Given the description of an element on the screen output the (x, y) to click on. 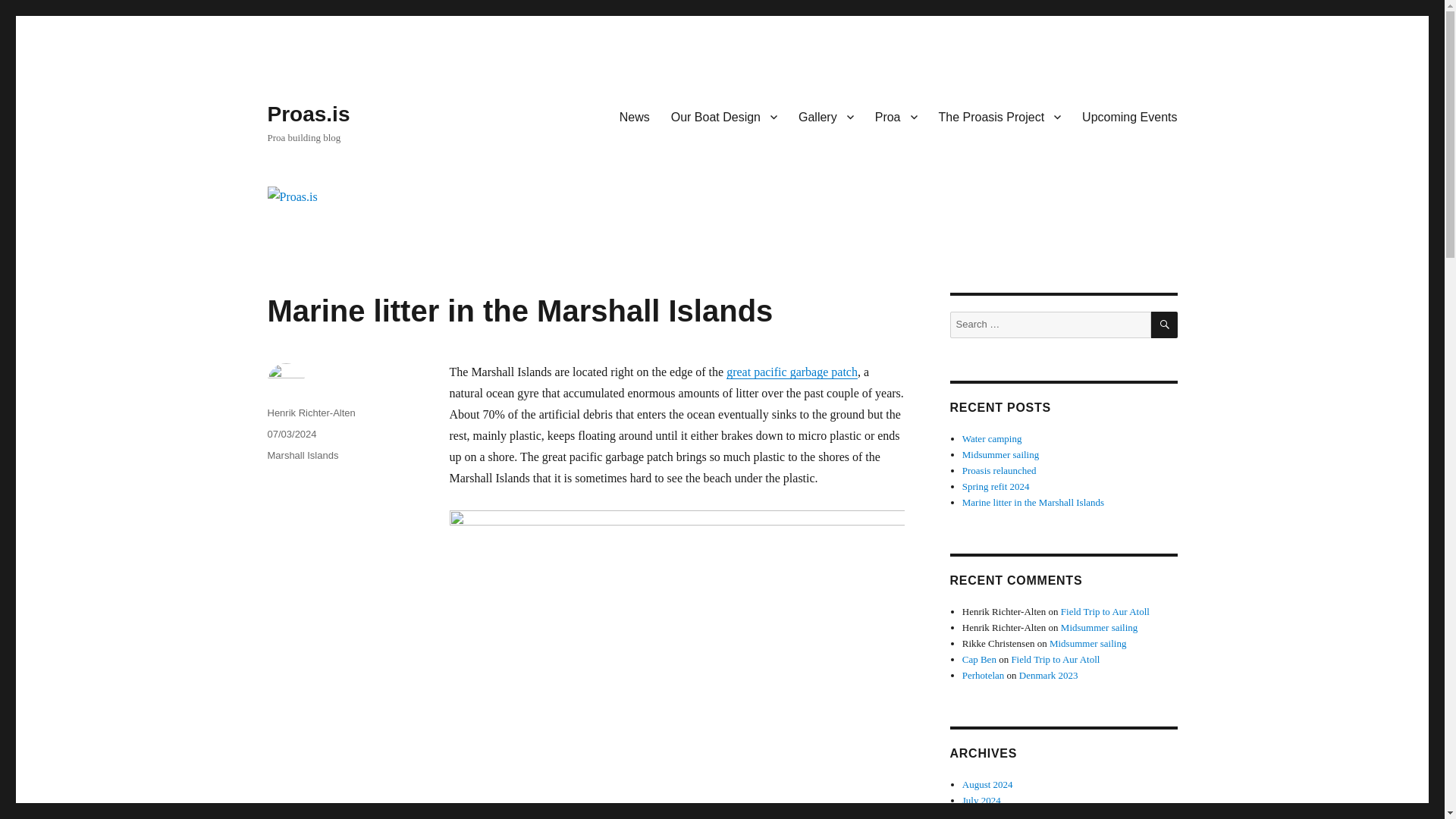
Marshall Islands (301, 455)
Gallery (825, 116)
Henrik Richter-Alten (310, 412)
Proa (896, 116)
great pacific garbage patch (791, 371)
Upcoming Events (1129, 116)
Proas.is (307, 114)
Our Boat Design (724, 116)
News (634, 116)
The Proasis Project (999, 116)
